Given the description of an element on the screen output the (x, y) to click on. 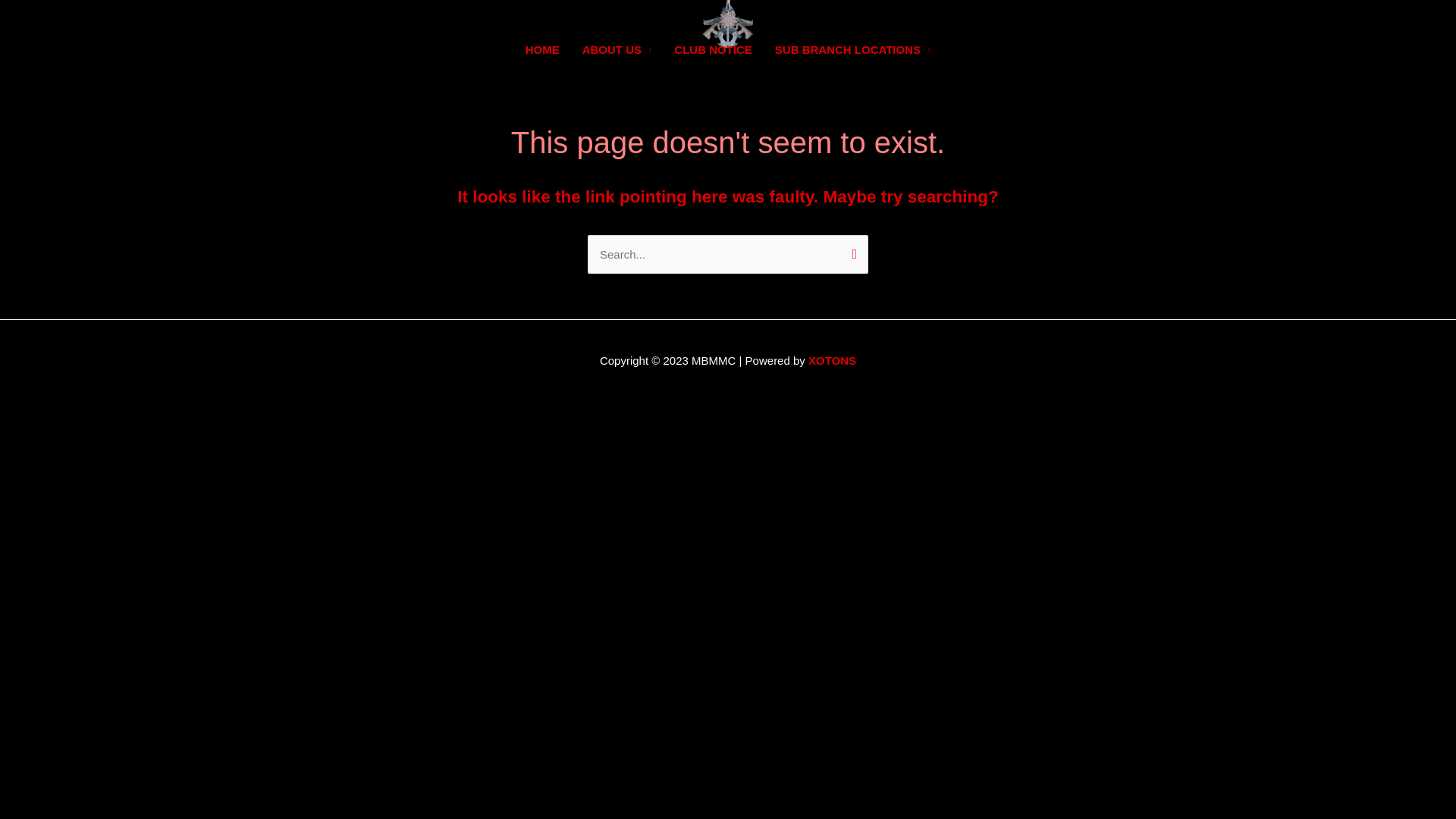
Search Element type: text (851, 255)
SUB BRANCH LOCATIONS Element type: text (852, 49)
XOTONS Element type: text (832, 360)
HOME Element type: text (542, 49)
CLUB NOTICE Element type: text (712, 49)
ABOUT US Element type: text (617, 49)
